Given the description of an element on the screen output the (x, y) to click on. 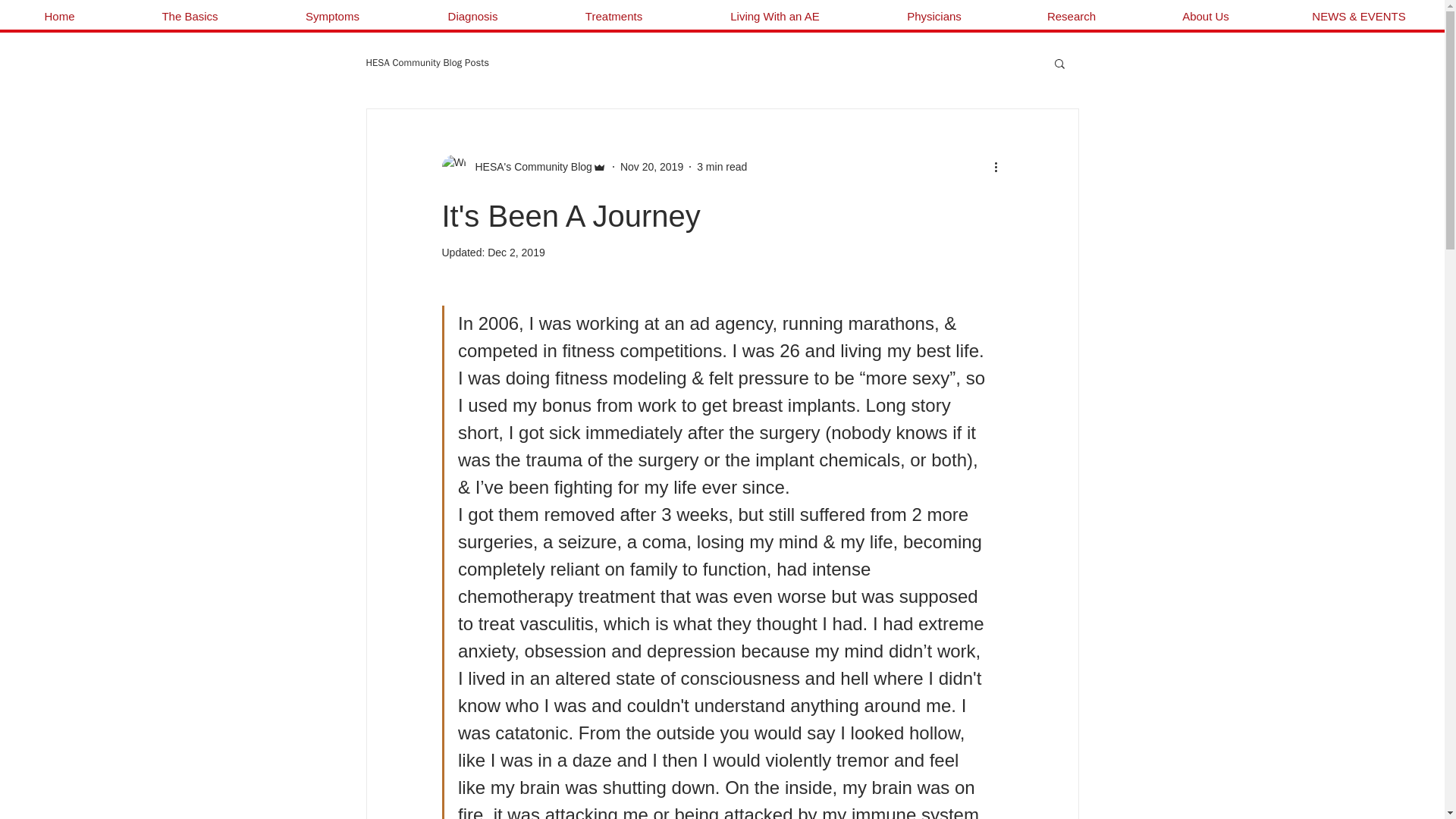
Dec 2, 2019 (515, 252)
Nov 20, 2019 (651, 166)
HESA's Community Blog (528, 166)
Living With an AE (774, 16)
Treatments (613, 16)
The Basics (189, 16)
About Us (1205, 16)
Home (59, 16)
Physicians (933, 16)
Diagnosis (472, 16)
3 min read (721, 166)
Symptoms (332, 16)
Research (1071, 16)
